Given the description of an element on the screen output the (x, y) to click on. 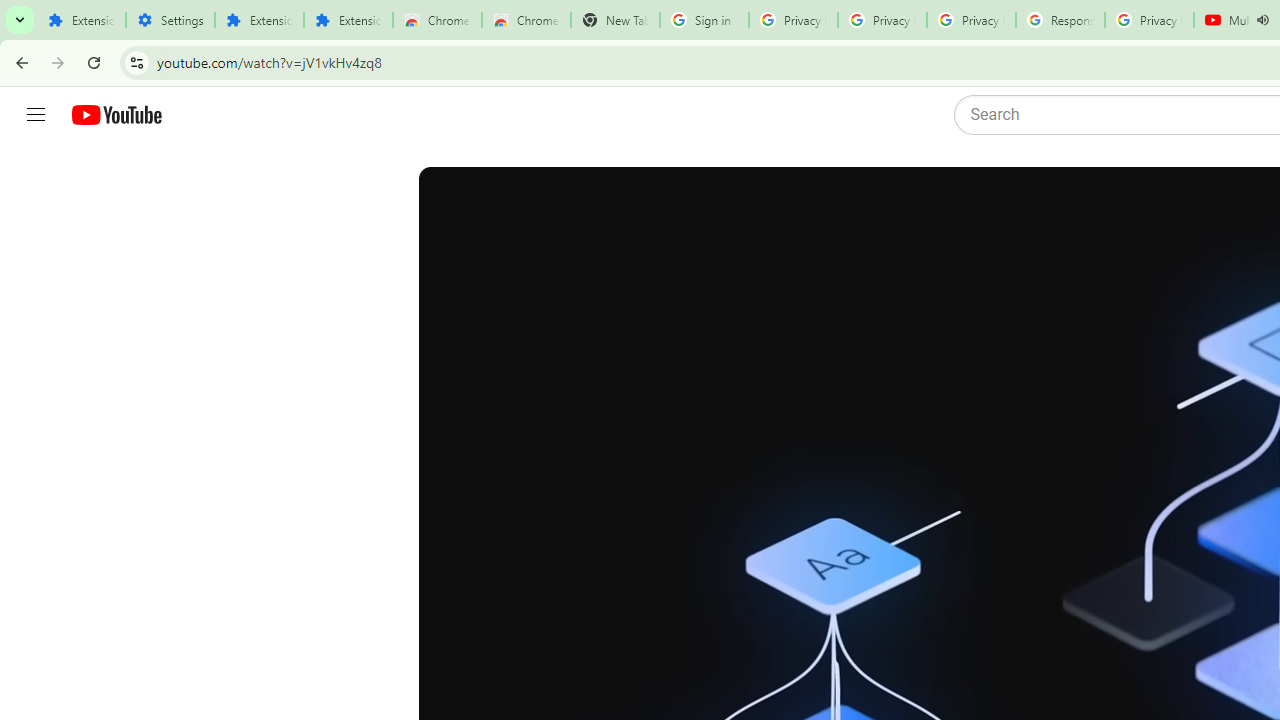
Extensions (259, 20)
Settings (170, 20)
Mute tab (1262, 20)
Chrome Web Store (437, 20)
Sign in - Google Accounts (704, 20)
Extensions (347, 20)
Chrome Web Store - Themes (526, 20)
YouTube Home (116, 115)
